Given the description of an element on the screen output the (x, y) to click on. 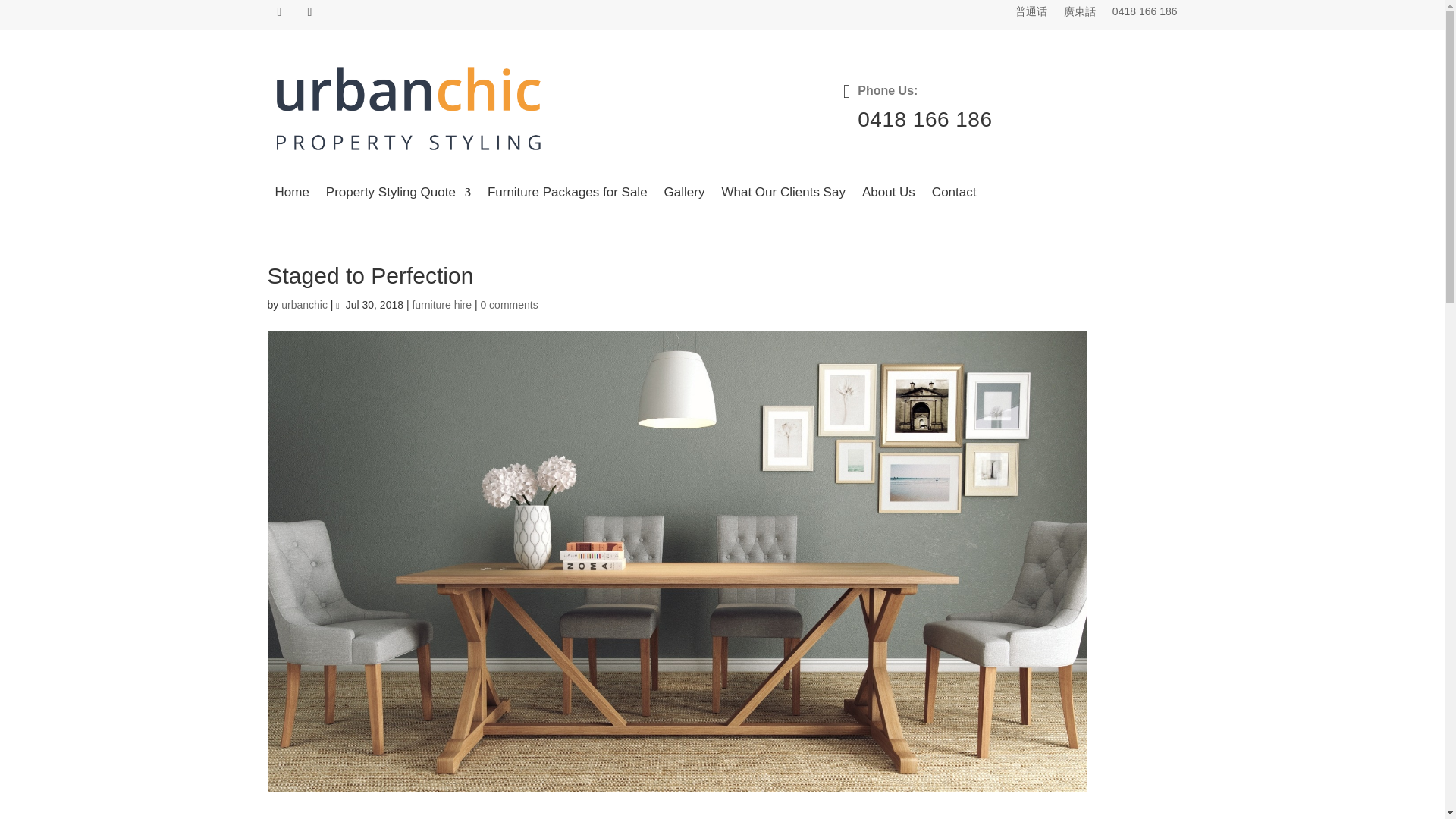
0 comments (508, 304)
0418 166 186 (1144, 13)
About Us (888, 195)
0418 166 186 (924, 119)
urbanchic (304, 304)
Furniture Packages for Sale (567, 195)
Property Styling Quote (398, 195)
furniture hire (441, 304)
Contact (953, 195)
Follow on Facebook (278, 12)
